Given the description of an element on the screen output the (x, y) to click on. 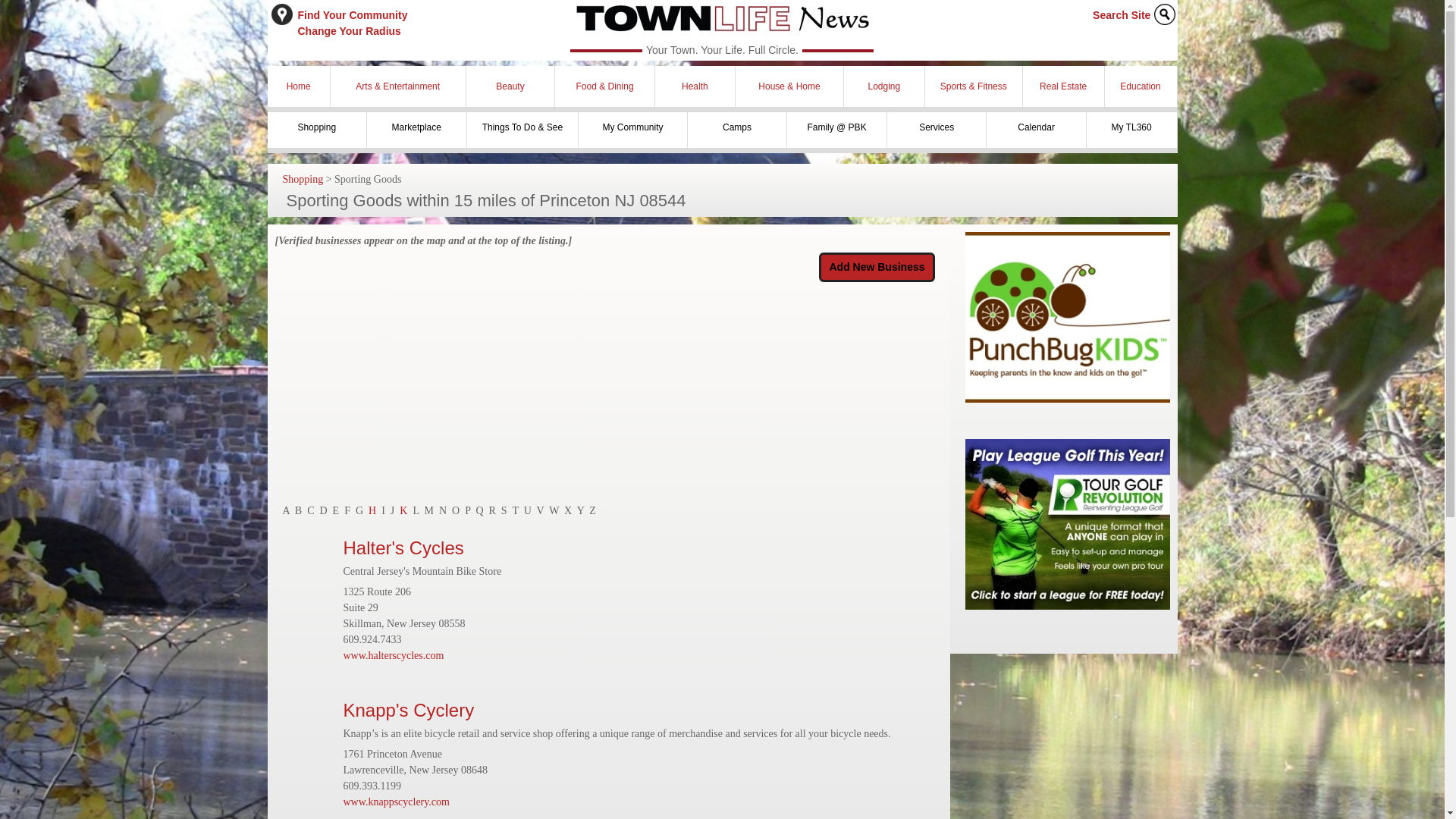
Search Site (352, 22)
Beauty (1121, 15)
Home (510, 86)
